Given the description of an element on the screen output the (x, y) to click on. 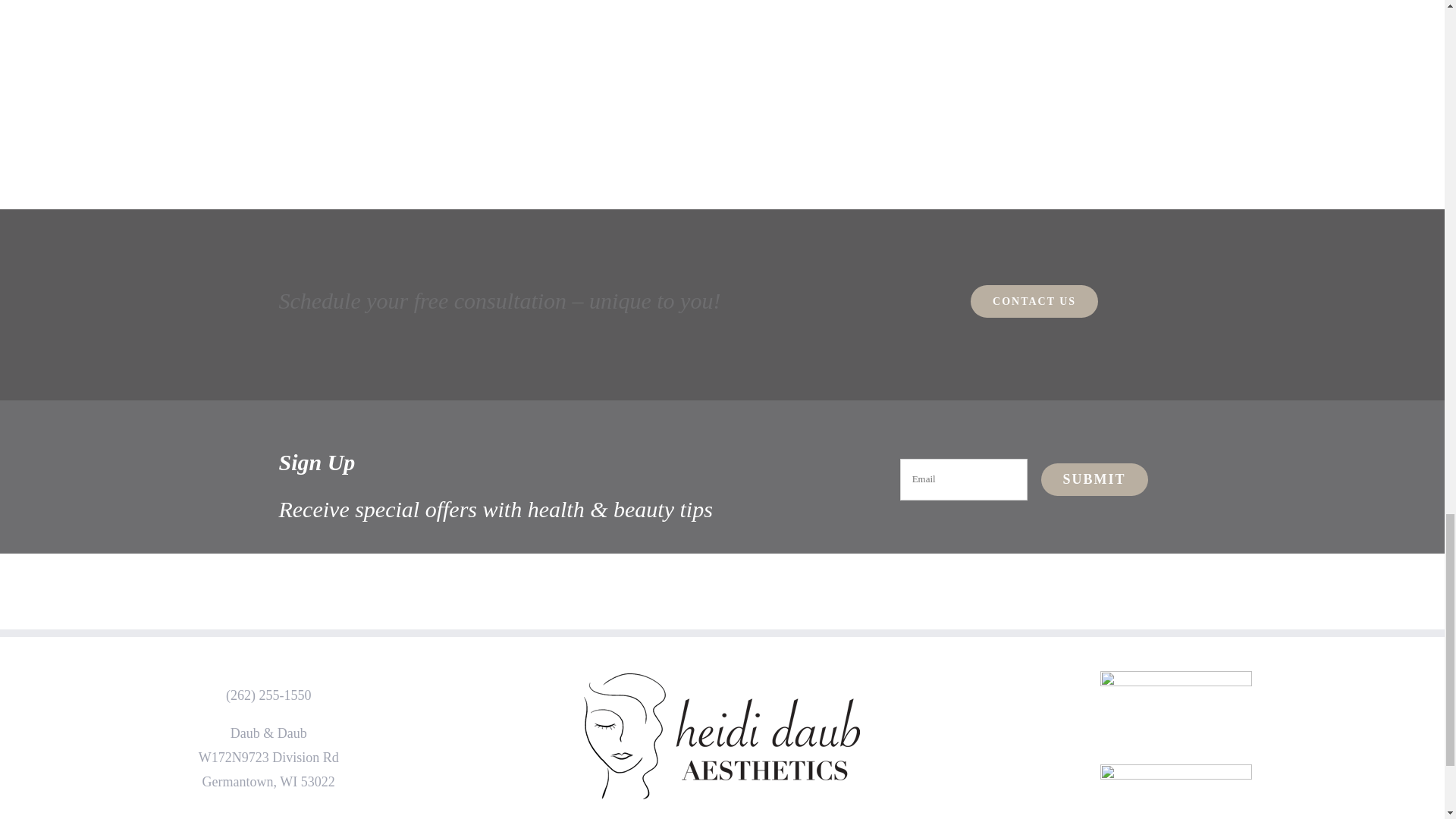
Submit (1094, 479)
CONTACT US (1034, 301)
Submit (1094, 479)
